Given the description of an element on the screen output the (x, y) to click on. 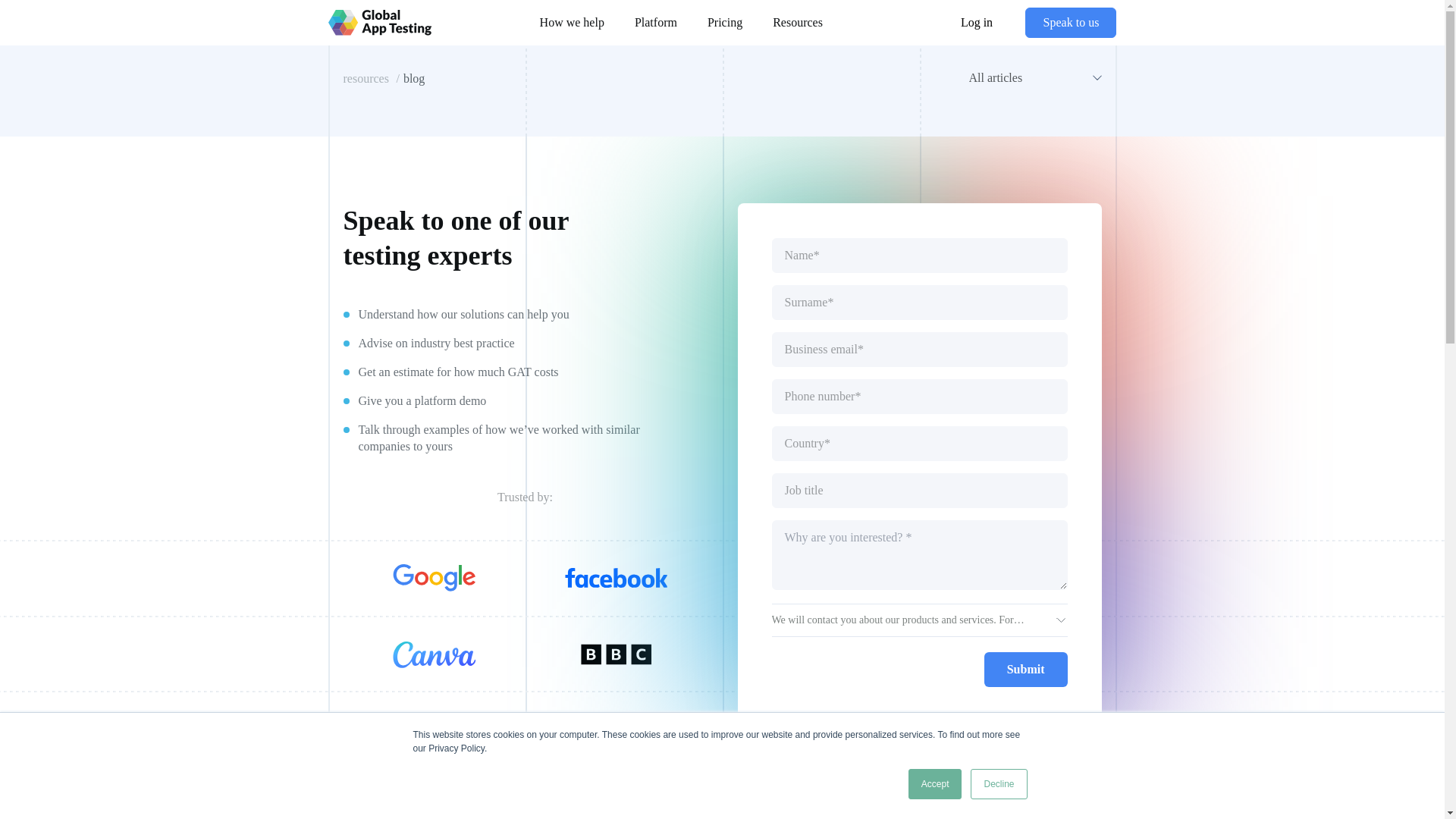
How we help (572, 21)
Platform (656, 21)
Decline (998, 784)
Submit (1025, 669)
Pricing (725, 21)
Accept (935, 784)
Resources (797, 21)
Global App Testing (378, 22)
